Given the description of an element on the screen output the (x, y) to click on. 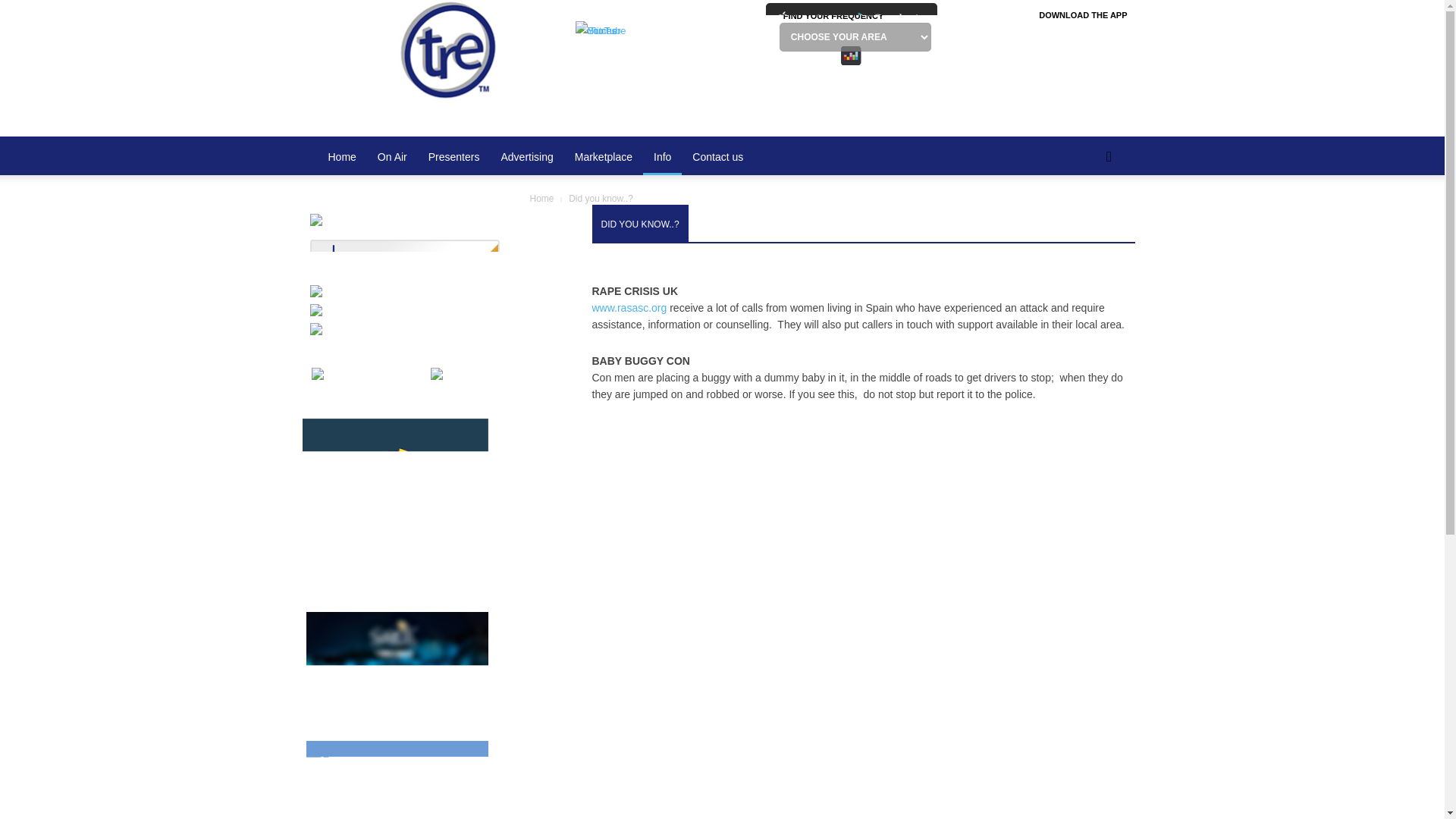
Talk Radio Europe (445, 64)
Facebook (851, 55)
YouTube (850, 55)
